Given the description of an element on the screen output the (x, y) to click on. 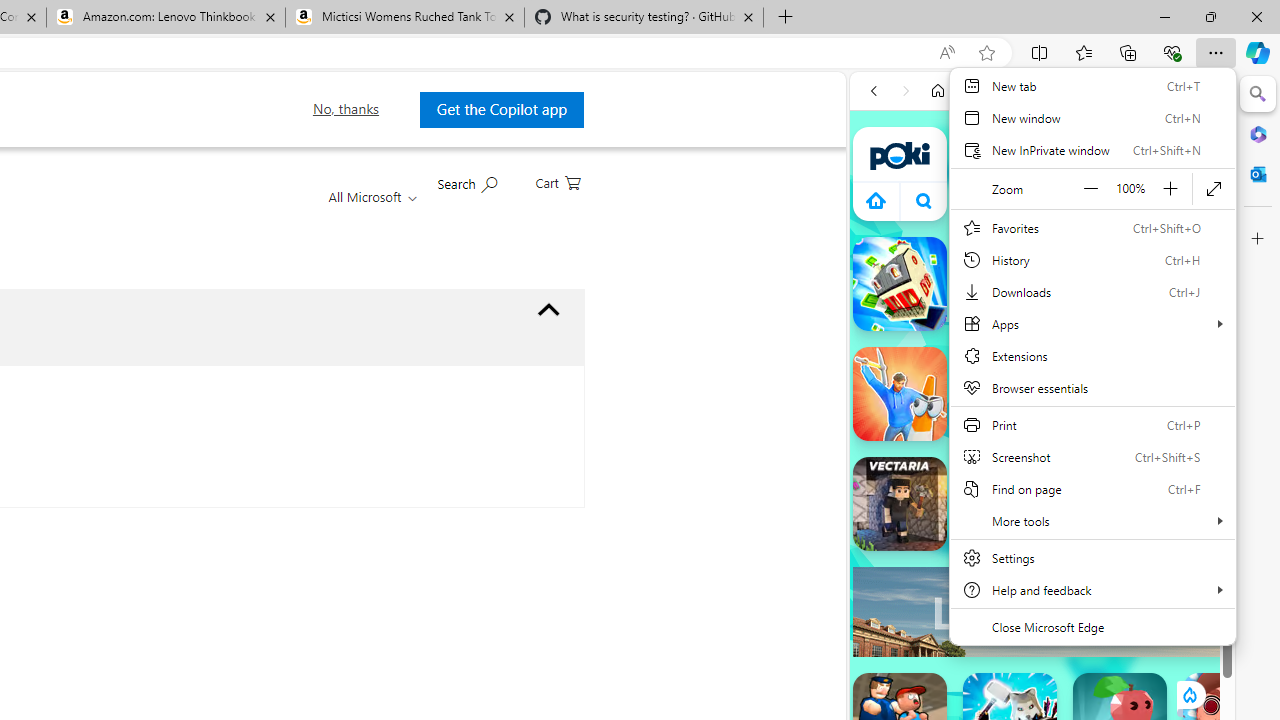
New InPrivate window (1092, 149)
Simply Prop Hunt Simply Prop Hunt (899, 393)
CLASSIC (1144, 277)
Show More Shooting Games (1164, 521)
SimplyUp.io (996, 518)
Enter full screen (F11) (1213, 188)
Two Player Games (1042, 567)
Class: rCs5cyEiqiTpYvt_VBCR (1189, 695)
Io Games (1042, 617)
poki.com (1046, 90)
